Given the description of an element on the screen output the (x, y) to click on. 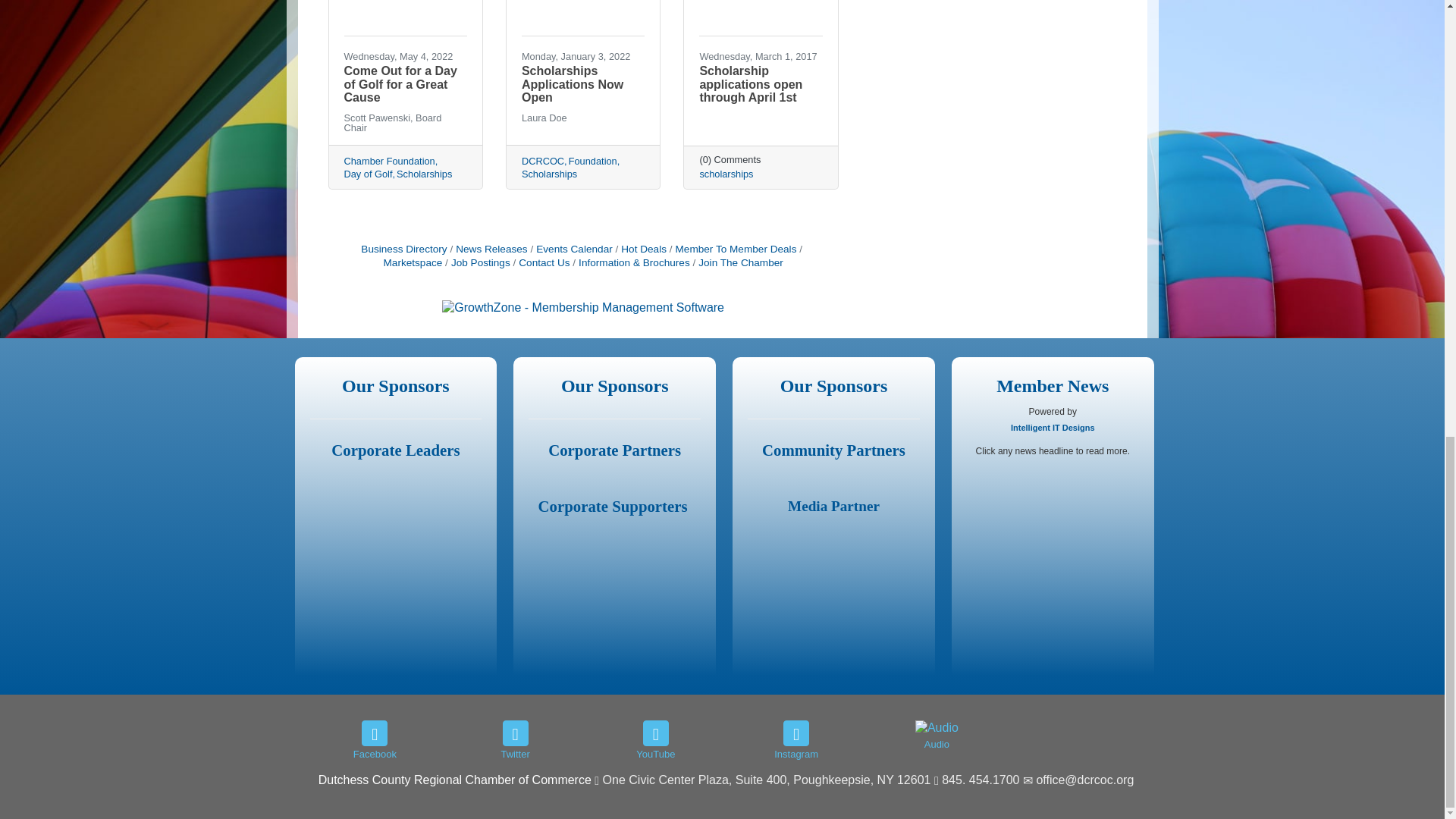
Audio (936, 728)
YouTube (655, 733)
Instagram (796, 733)
Facebook (374, 733)
Twitter (515, 733)
